Given the description of an element on the screen output the (x, y) to click on. 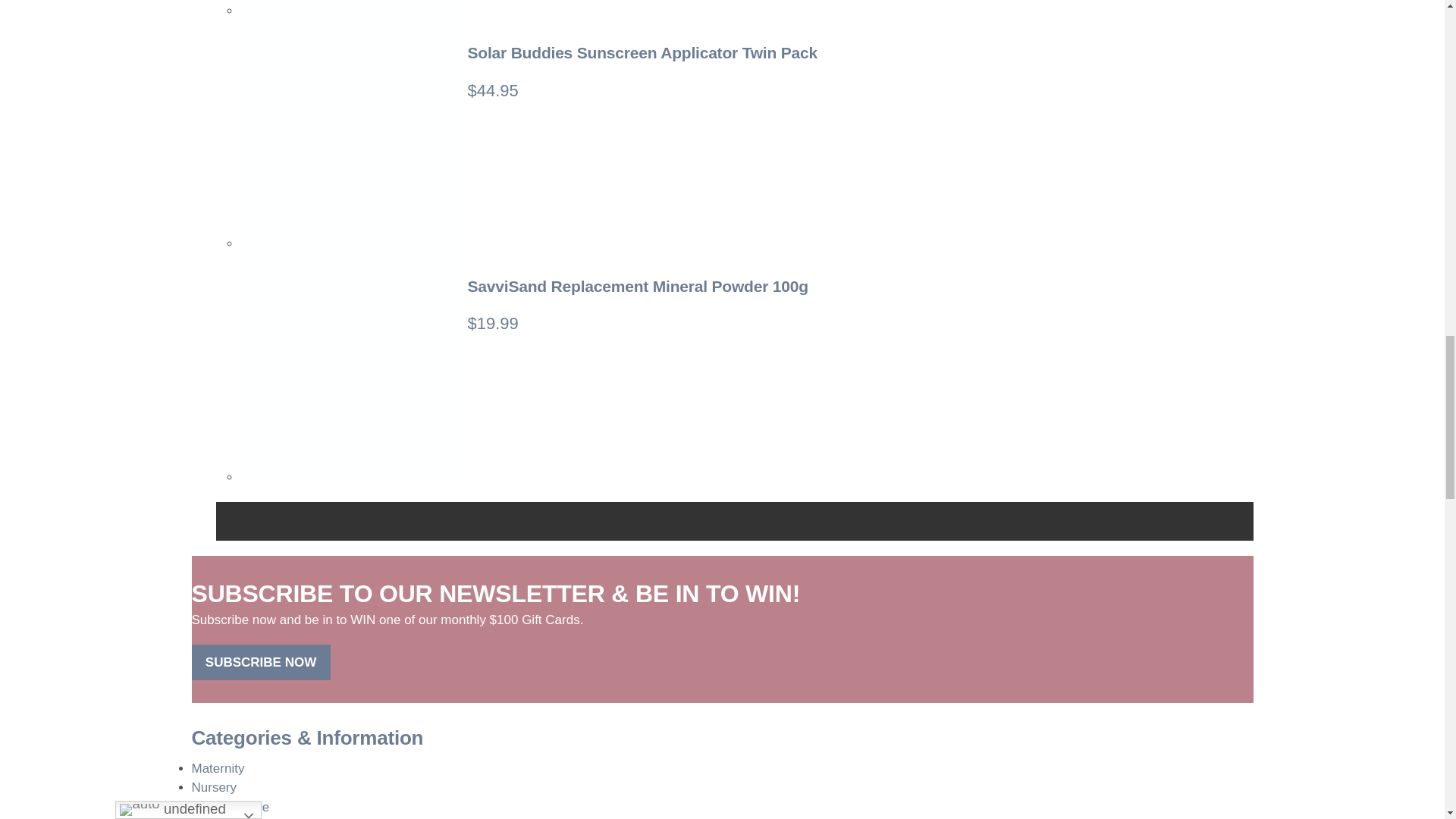
Sign up to newsletter (260, 661)
